Given the description of an element on the screen output the (x, y) to click on. 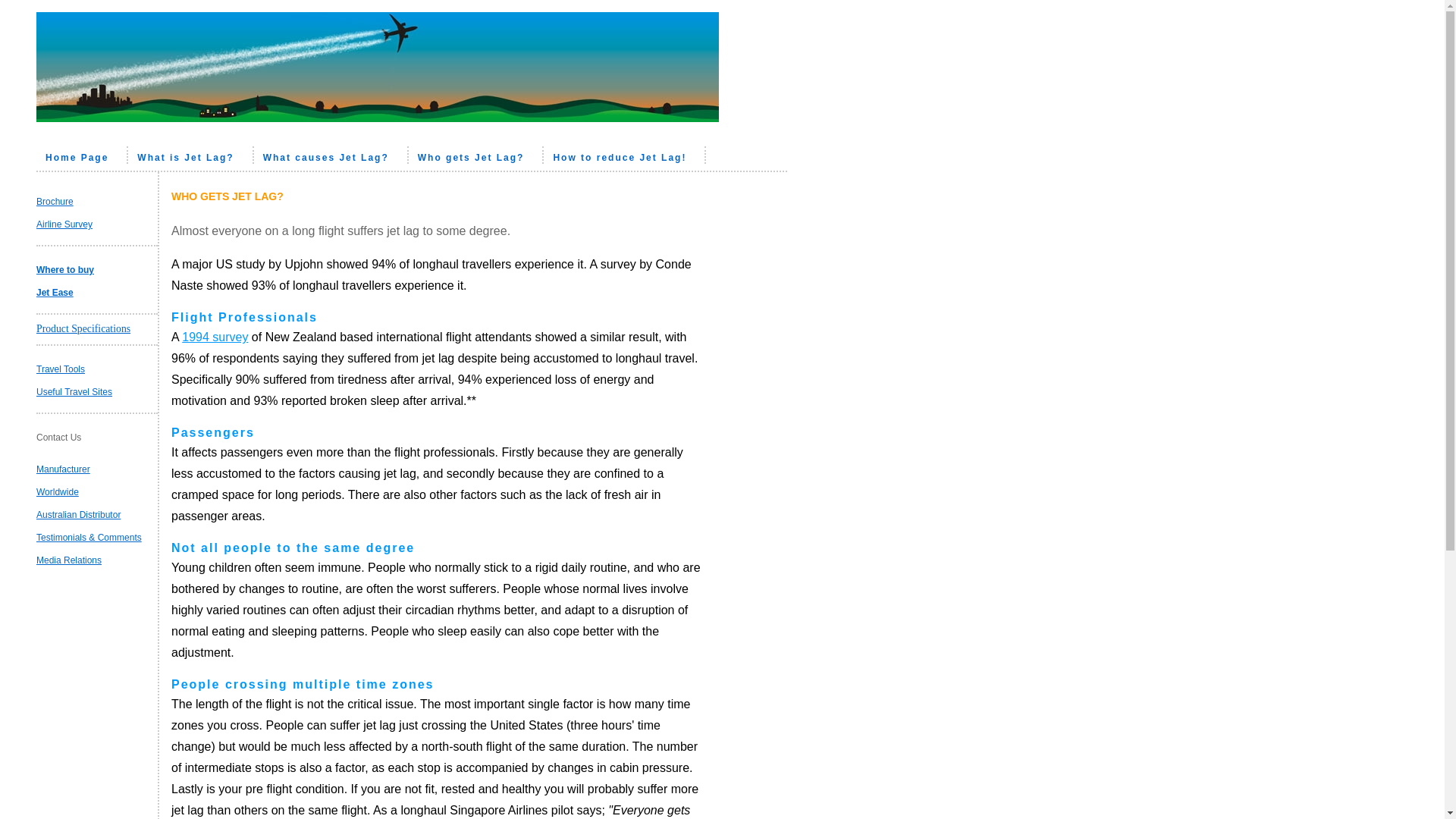
Useful Travel Sites Element type: text (74, 391)
Testimonials & Comments Element type: text (88, 537)
Product Specifications Element type: text (83, 328)
How to reduce Jet Lag! Element type: text (624, 154)
Media Relations Element type: text (68, 560)
What is Jet Lag? Element type: text (190, 154)
Brochure Element type: text (54, 201)
Manufacturer Element type: text (63, 469)
Travel Tools Element type: text (60, 369)
Worldwide Element type: text (57, 491)
1994 survey Element type: text (214, 336)
Home Page Element type: text (82, 154)
Who gets Jet Lag? Element type: text (476, 154)
Where to buy
Jet Ease Element type: text (65, 281)
Australian Distributor Element type: text (78, 514)
What causes Jet Lag? Element type: text (331, 154)
Airline Survey Element type: text (64, 224)
